Given the description of an element on the screen output the (x, y) to click on. 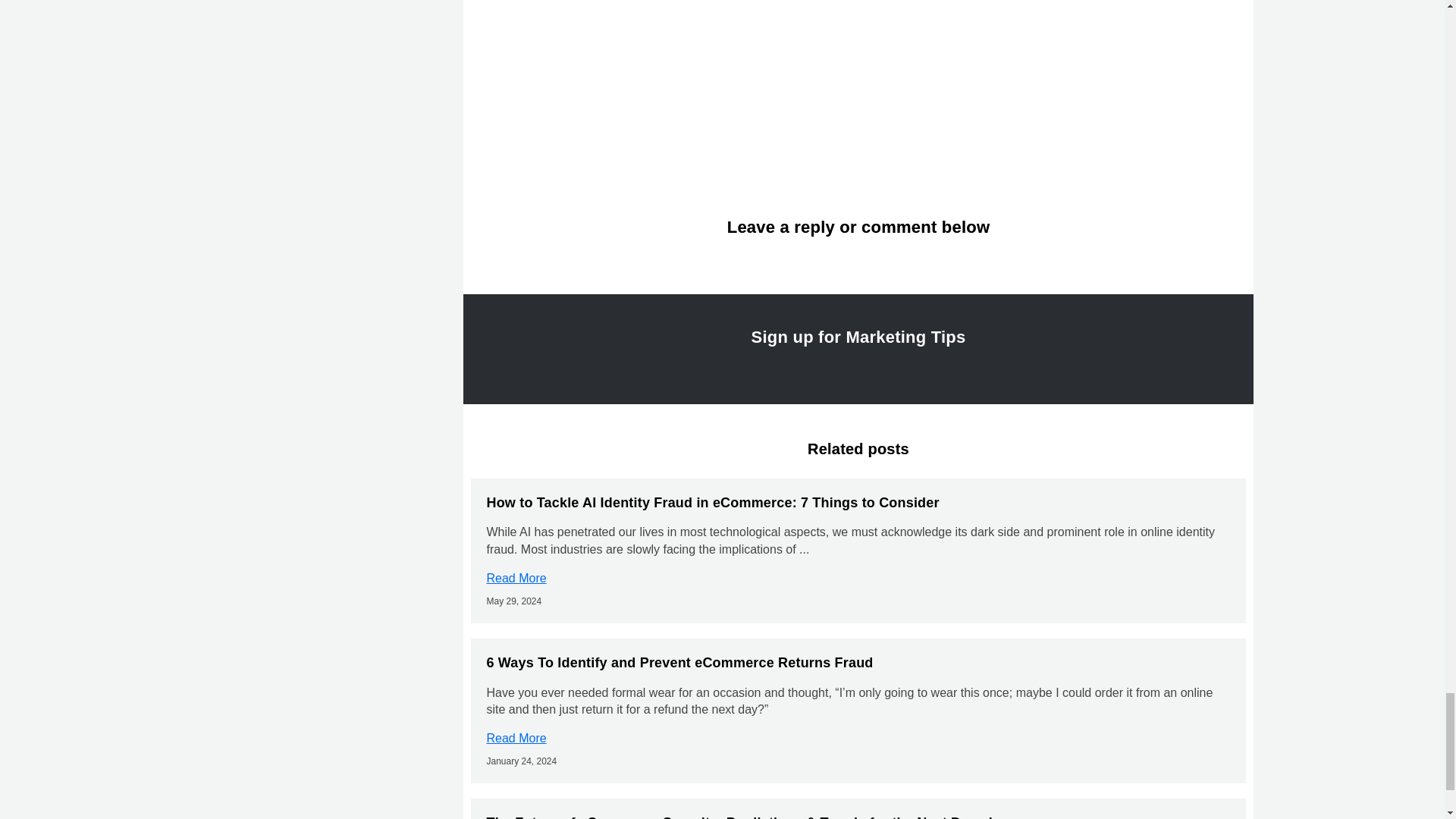
Read More (516, 577)
6 Ways To Identify and Prevent eCommerce Returns Fraud (679, 662)
Read More (516, 738)
